Given the description of an element on the screen output the (x, y) to click on. 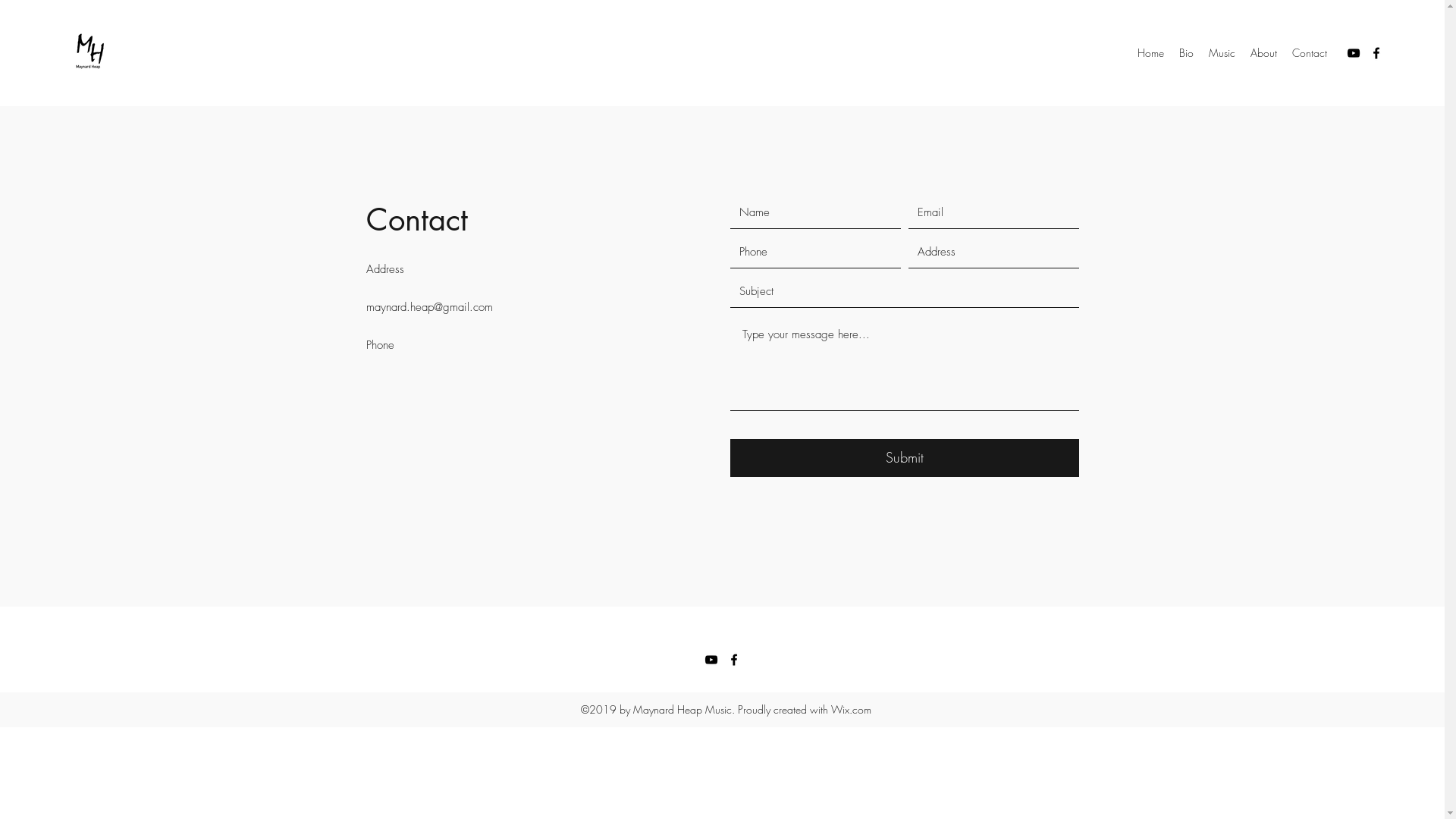
About Element type: text (1263, 52)
maynard.heap@gmail.com Element type: text (428, 306)
Submit Element type: text (903, 457)
Home Element type: text (1150, 52)
Contact Element type: text (1309, 52)
Bio Element type: text (1186, 52)
Music Element type: text (1221, 52)
